Given the description of an element on the screen output the (x, y) to click on. 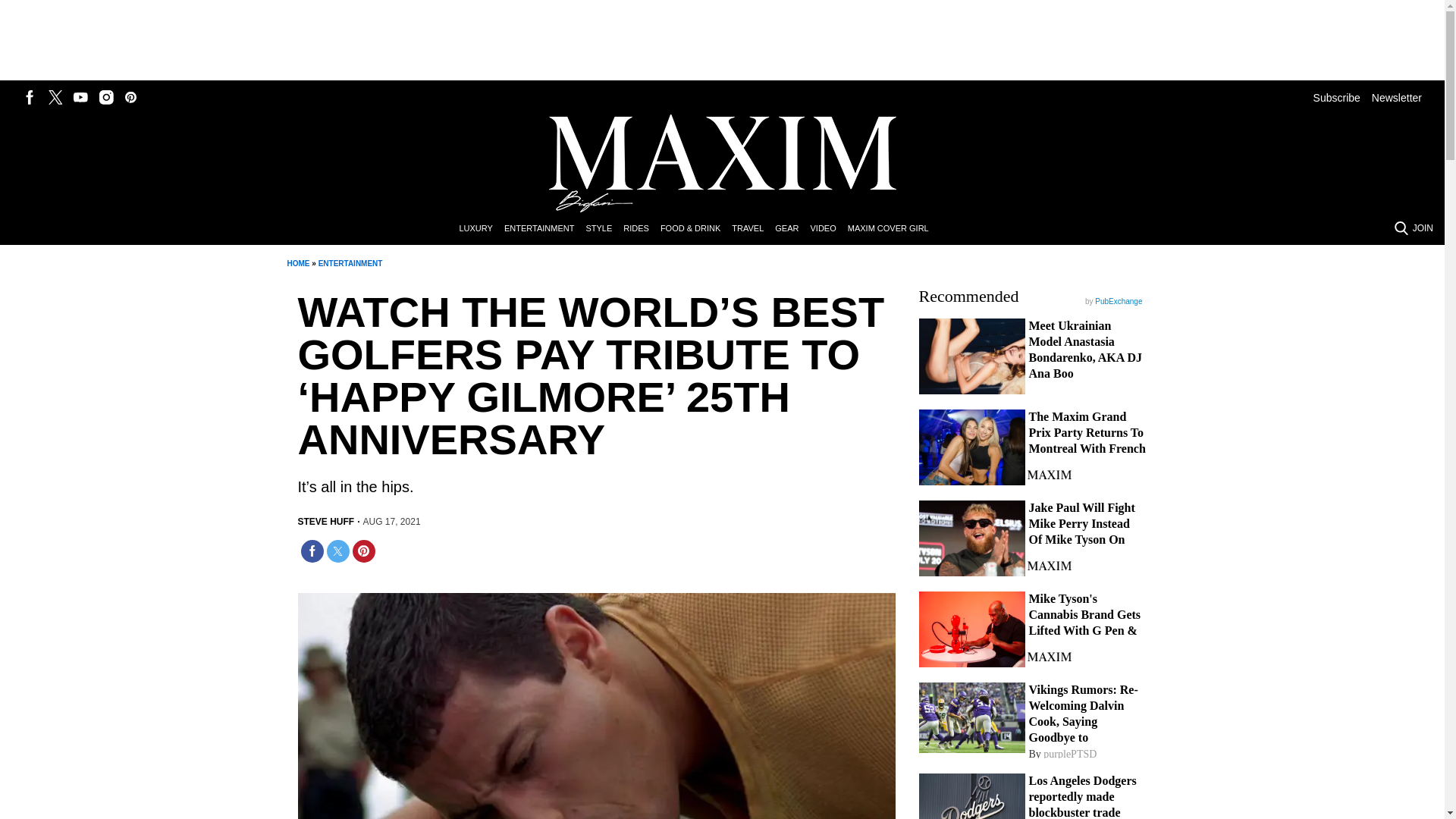
Share on Twitter (337, 550)
Follow us on Youtube (80, 97)
Follow us on Instagram (106, 97)
TRAVEL (753, 228)
Newsletter (1396, 97)
JOIN (1422, 228)
Subscribe (1336, 97)
ENTERTAINMENT (350, 263)
Share on Facebook (311, 550)
Posts by Steve Huff (325, 521)
STEVE HUFF (325, 521)
Advertisement (722, 40)
HOME (297, 263)
Follow us on Facebook (30, 97)
LUXURY (480, 228)
